Given the description of an element on the screen output the (x, y) to click on. 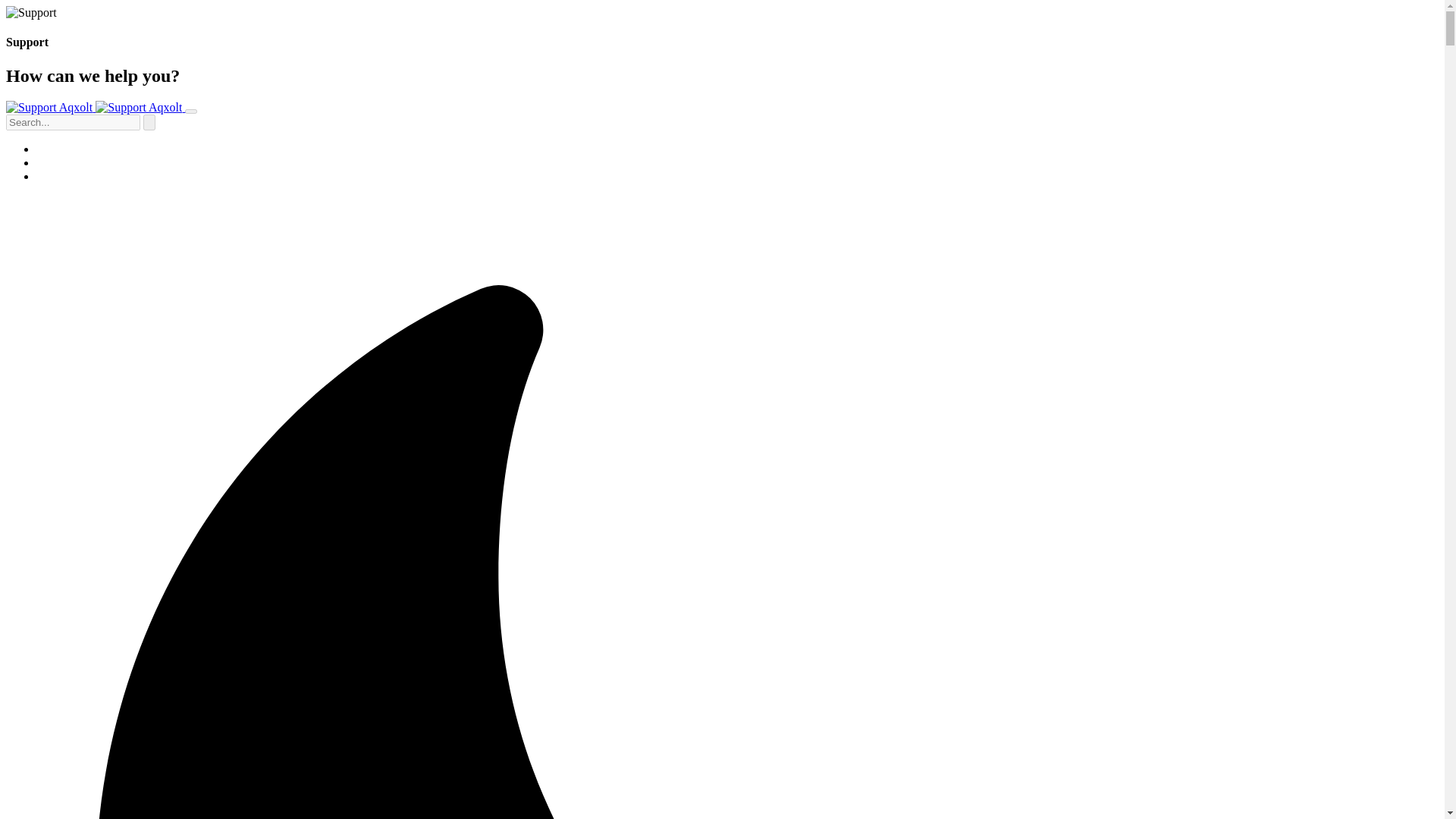
Home (50, 148)
Knowledge Base (77, 162)
Knowledge Base (77, 162)
Home (50, 148)
Videos (52, 175)
Videos (52, 175)
